Given the description of an element on the screen output the (x, y) to click on. 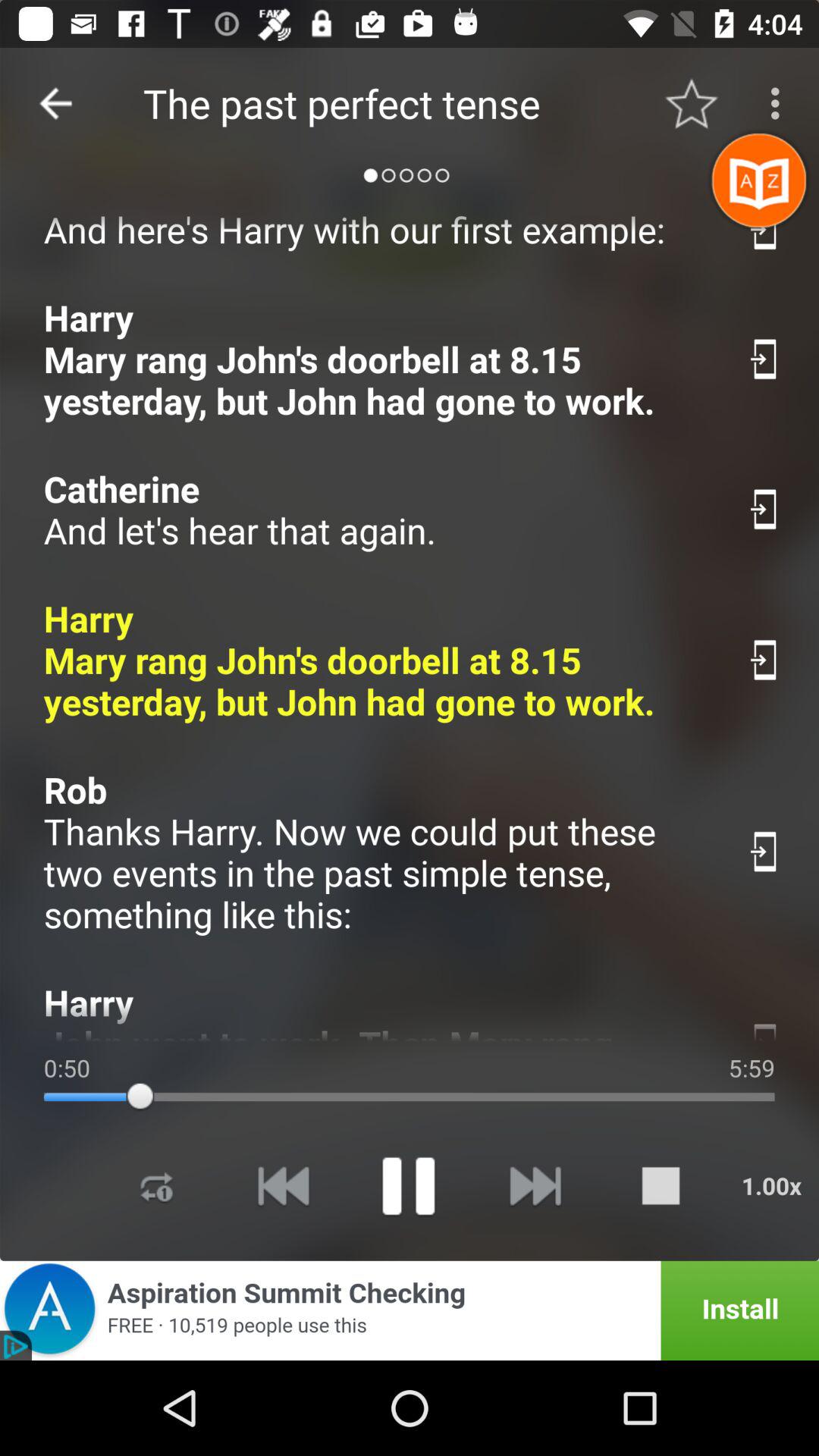
open item above harry john went item (379, 851)
